Given the description of an element on the screen output the (x, y) to click on. 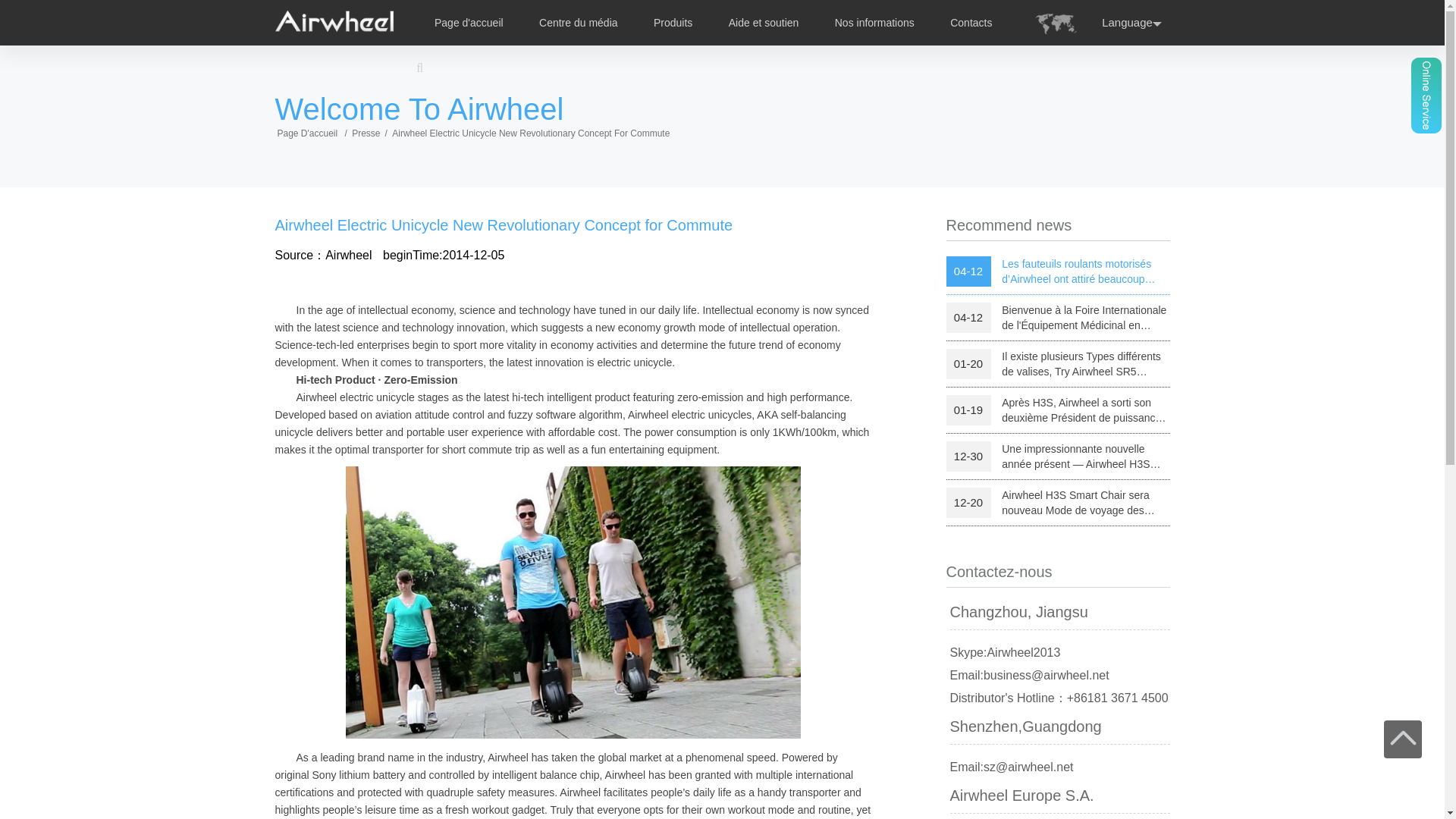
Page d'accueil (468, 22)
Contacts (970, 22)
Aide et soutien (764, 22)
Produits (673, 22)
